Given the description of an element on the screen output the (x, y) to click on. 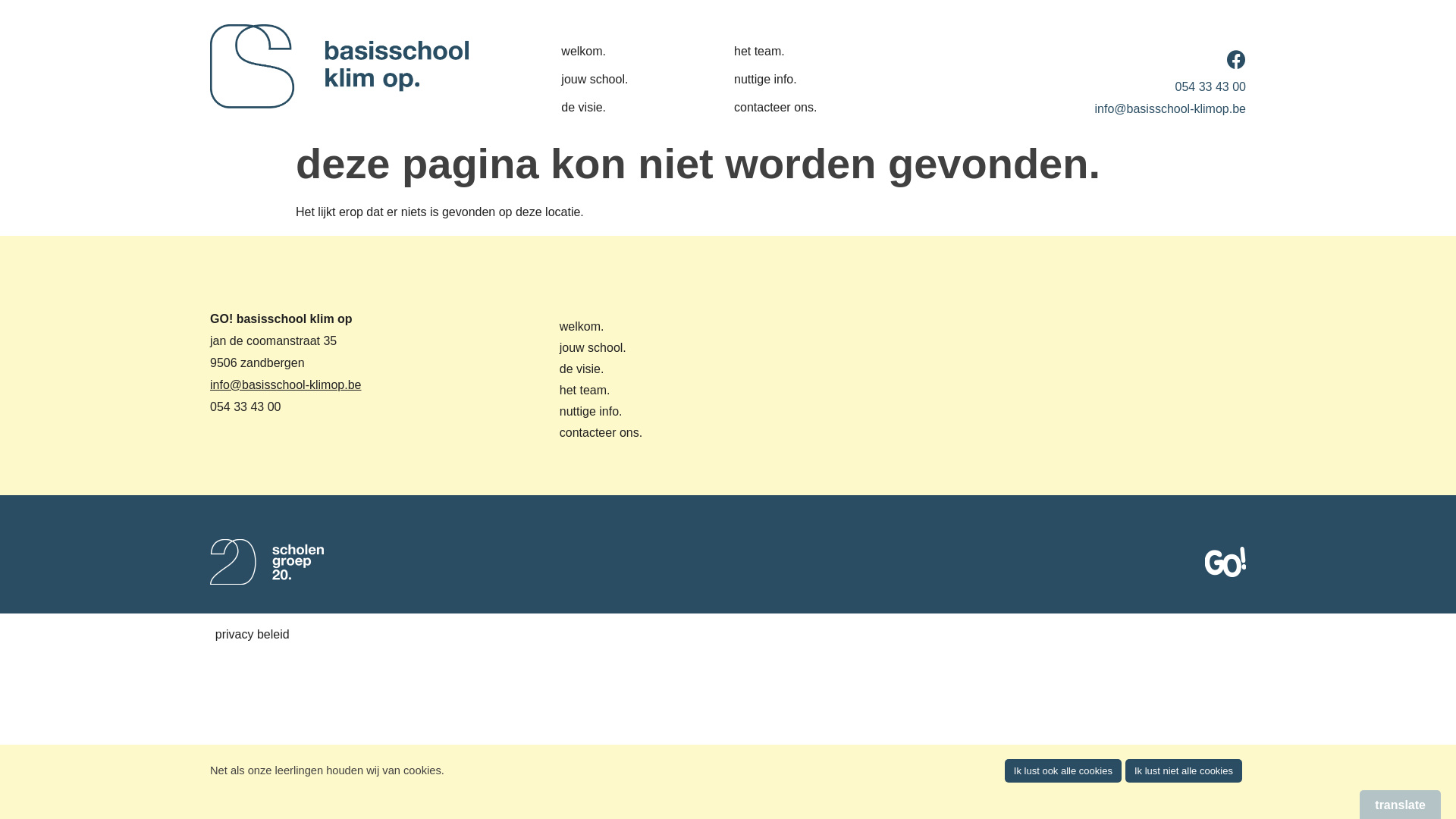
054 33 43 00 Element type: text (1210, 86)
privacy beleid Element type: text (252, 633)
het team. Element type: text (784, 51)
Ik lust niet alle cookies Element type: text (1183, 770)
Ik lust ook alle cookies Element type: text (1062, 770)
welkom. Element type: text (611, 51)
de visie. Element type: text (611, 107)
het team. Element type: text (610, 390)
nuttige info. Element type: text (784, 79)
info@basisschool-klimop.be Element type: text (285, 384)
welkom. Element type: text (610, 326)
contacteer ons. Element type: text (610, 432)
de visie. Element type: text (610, 368)
logo-GO-wit Element type: hover (1224, 561)
054 33 43 00 Element type: text (245, 406)
jouw school. Element type: text (611, 79)
logo-sgr20-white-outline Element type: hover (266, 561)
info@basisschool-klimop.be Element type: text (1170, 108)
nuttige info. Element type: text (610, 411)
jouw school. Element type: text (610, 347)
contacteer ons. Element type: text (784, 107)
